Given the description of an element on the screen output the (x, y) to click on. 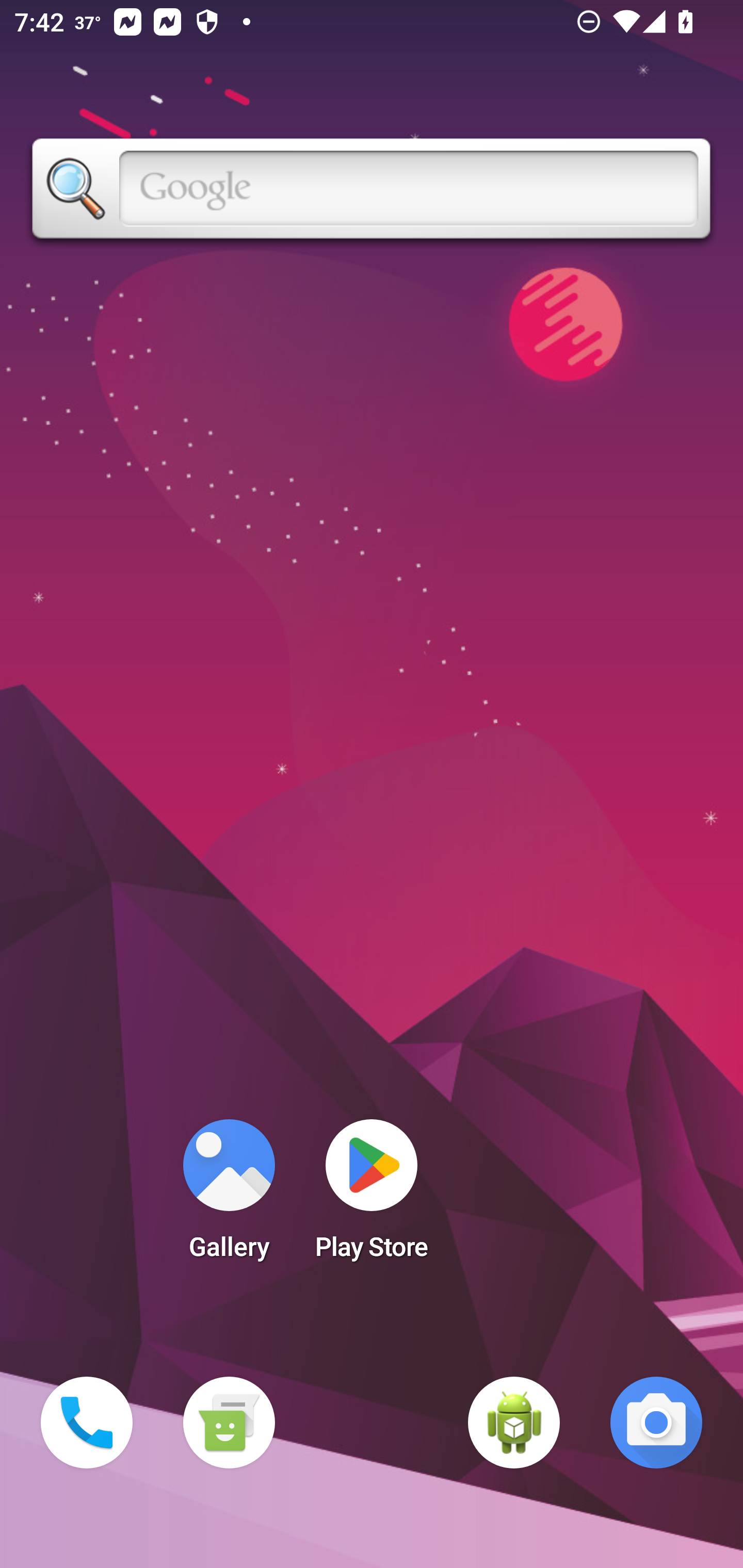
Gallery (228, 1195)
Play Store (371, 1195)
Phone (86, 1422)
Messaging (228, 1422)
WebView Browser Tester (513, 1422)
Camera (656, 1422)
